Given the description of an element on the screen output the (x, y) to click on. 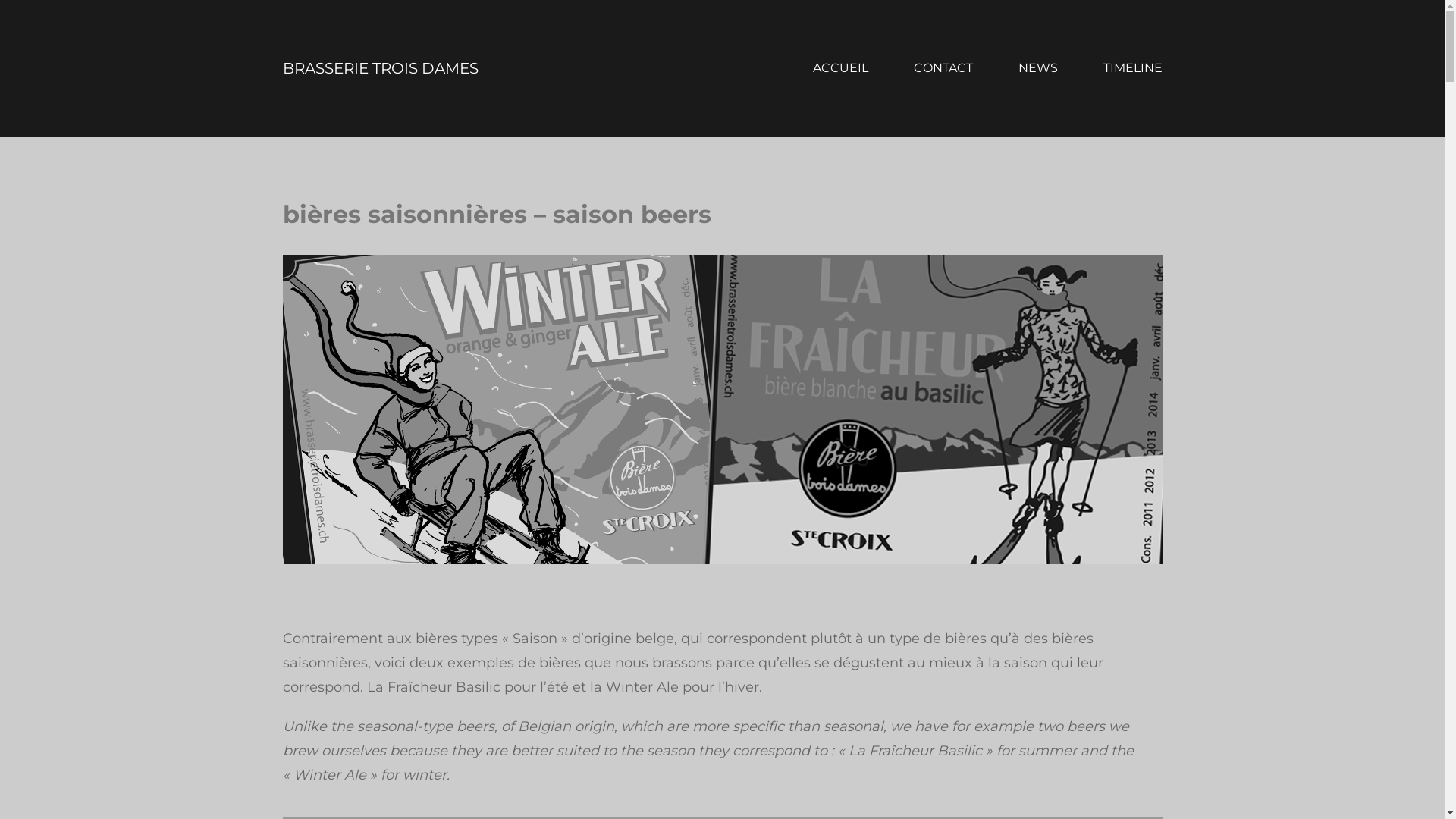
ACCUEIL Element type: text (840, 68)
TIMELINE Element type: text (1131, 68)
BRASSERIE TROIS DAMES Element type: text (379, 67)
CONTACT Element type: text (942, 68)
NEWS Element type: text (1037, 68)
